Given the description of an element on the screen output the (x, y) to click on. 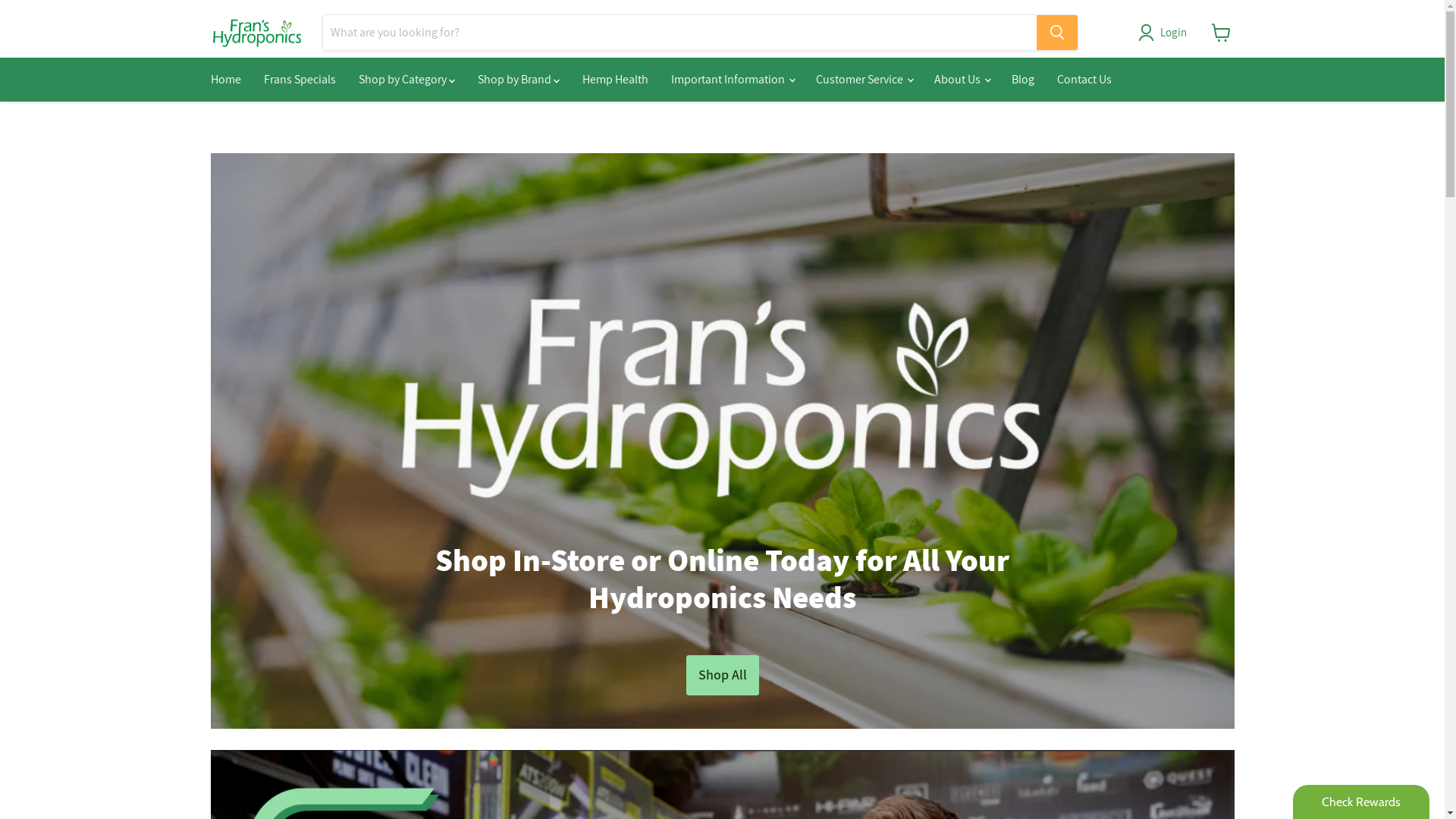
Home Element type: text (224, 79)
Shop by Category Element type: text (406, 79)
Customer Service Element type: text (862, 79)
Login Element type: text (1173, 32)
Frans Specials Element type: text (298, 79)
Hemp Health Element type: text (614, 79)
Contact Us Element type: text (1083, 79)
Shop by Brand Element type: text (517, 79)
Blog Element type: text (1021, 79)
View cart Element type: text (1221, 32)
About Us Element type: text (960, 79)
Important Information Element type: text (731, 79)
